Given the description of an element on the screen output the (x, y) to click on. 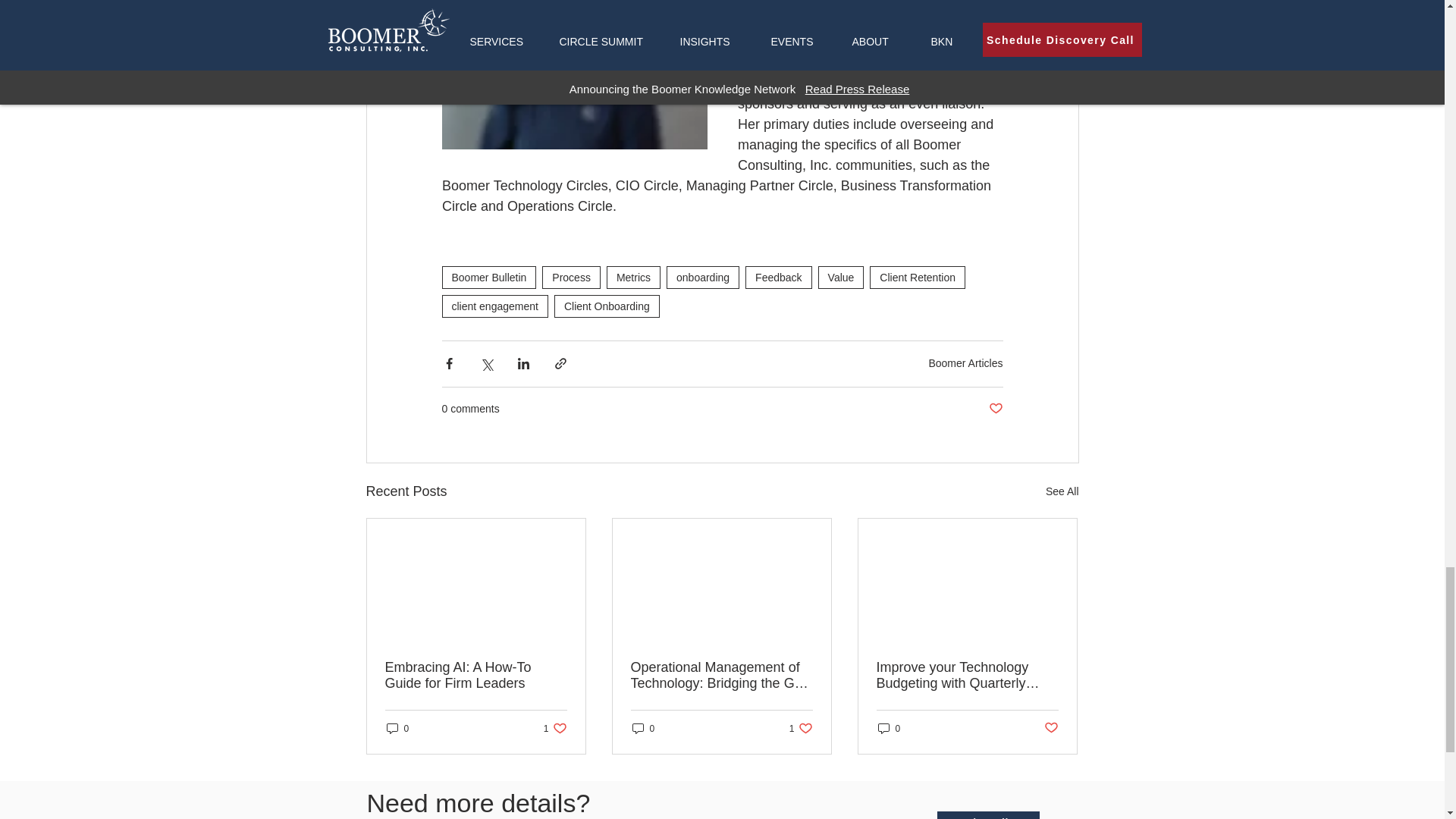
Process (570, 277)
Metrics (634, 277)
Boomer Bulletin (488, 277)
Erin (903, 4)
